Given the description of an element on the screen output the (x, y) to click on. 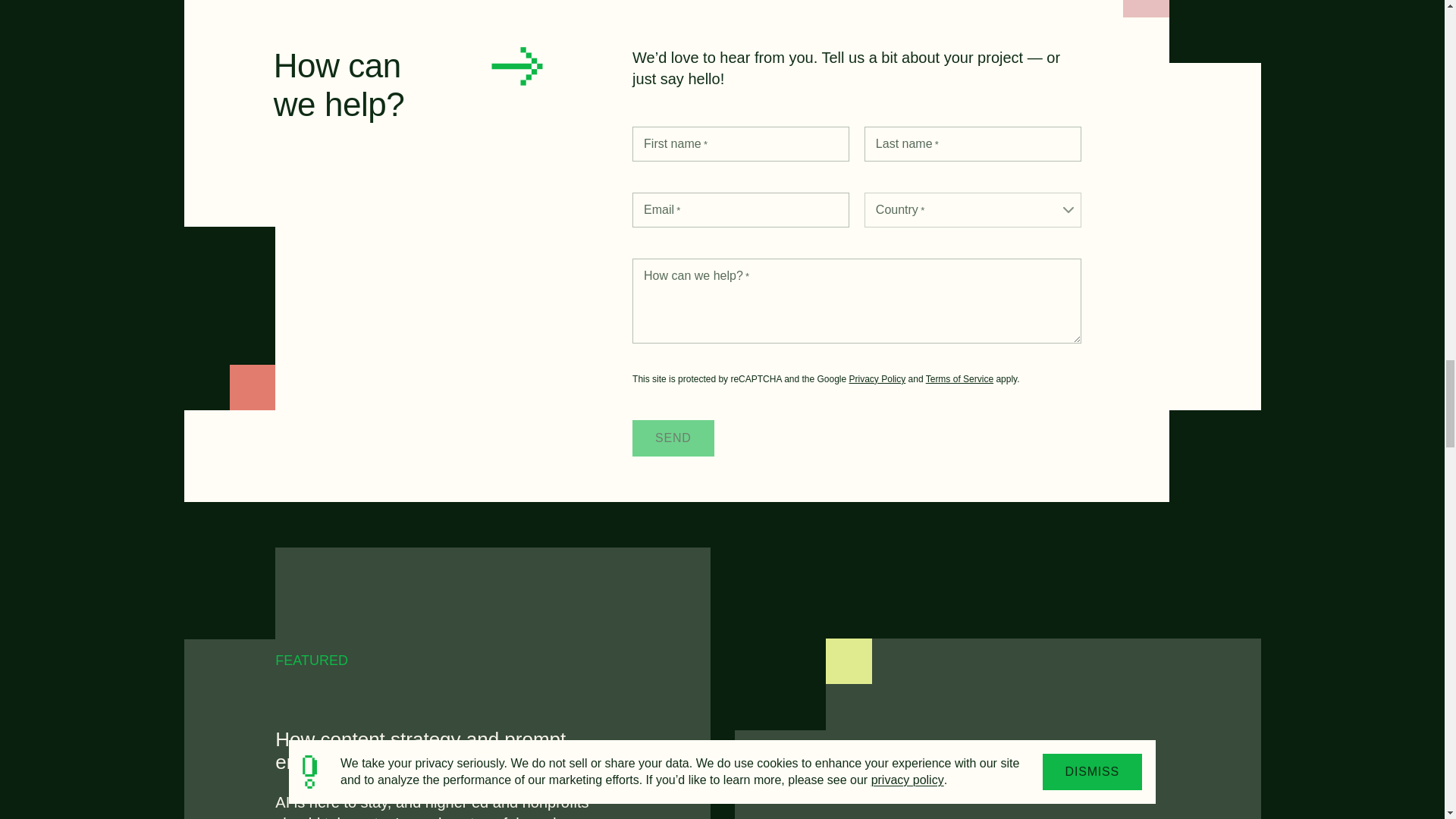
Send (672, 438)
